Given the description of an element on the screen output the (x, y) to click on. 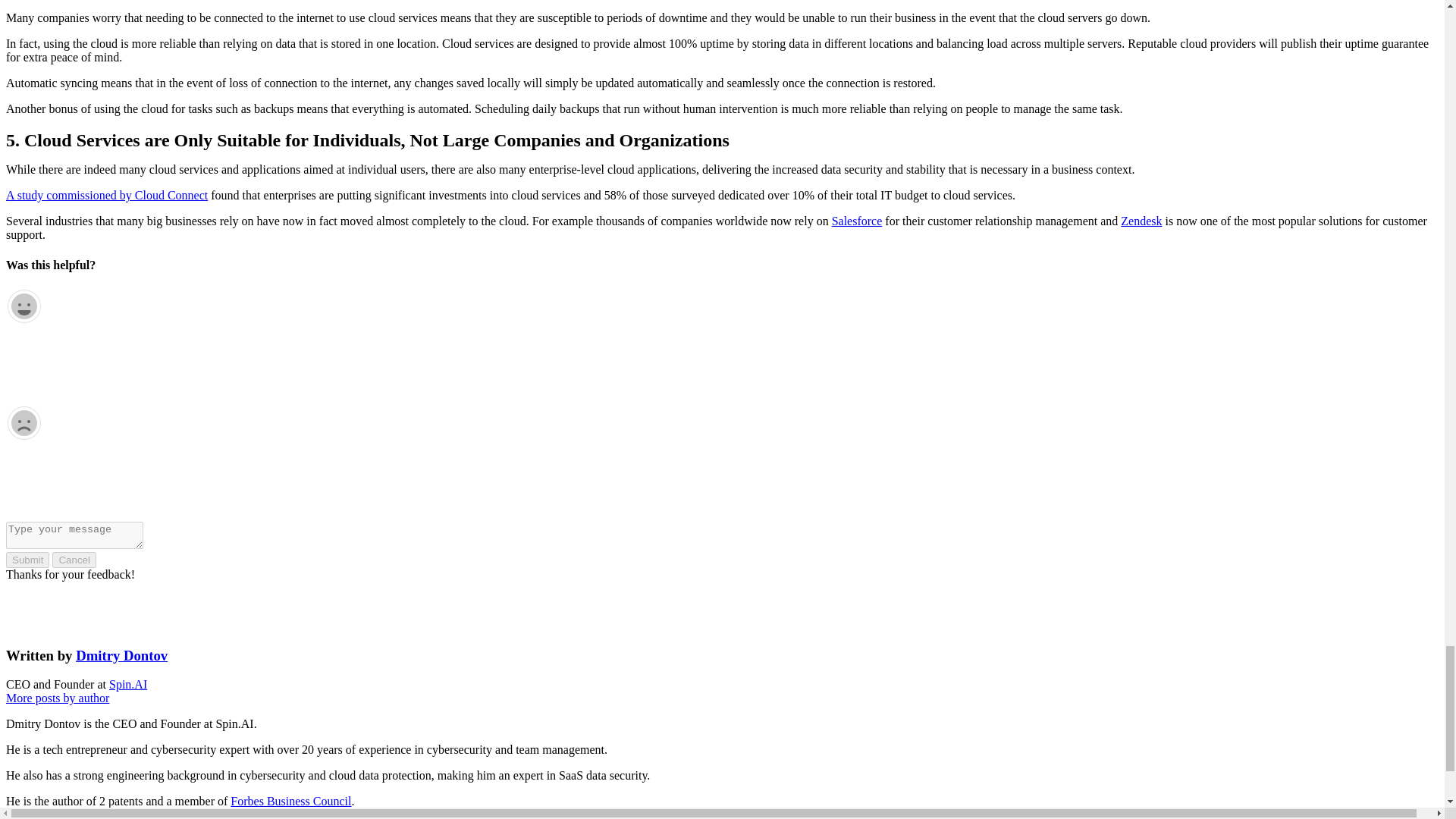
Posts by Dmitry Dontov (121, 655)
